Given the description of an element on the screen output the (x, y) to click on. 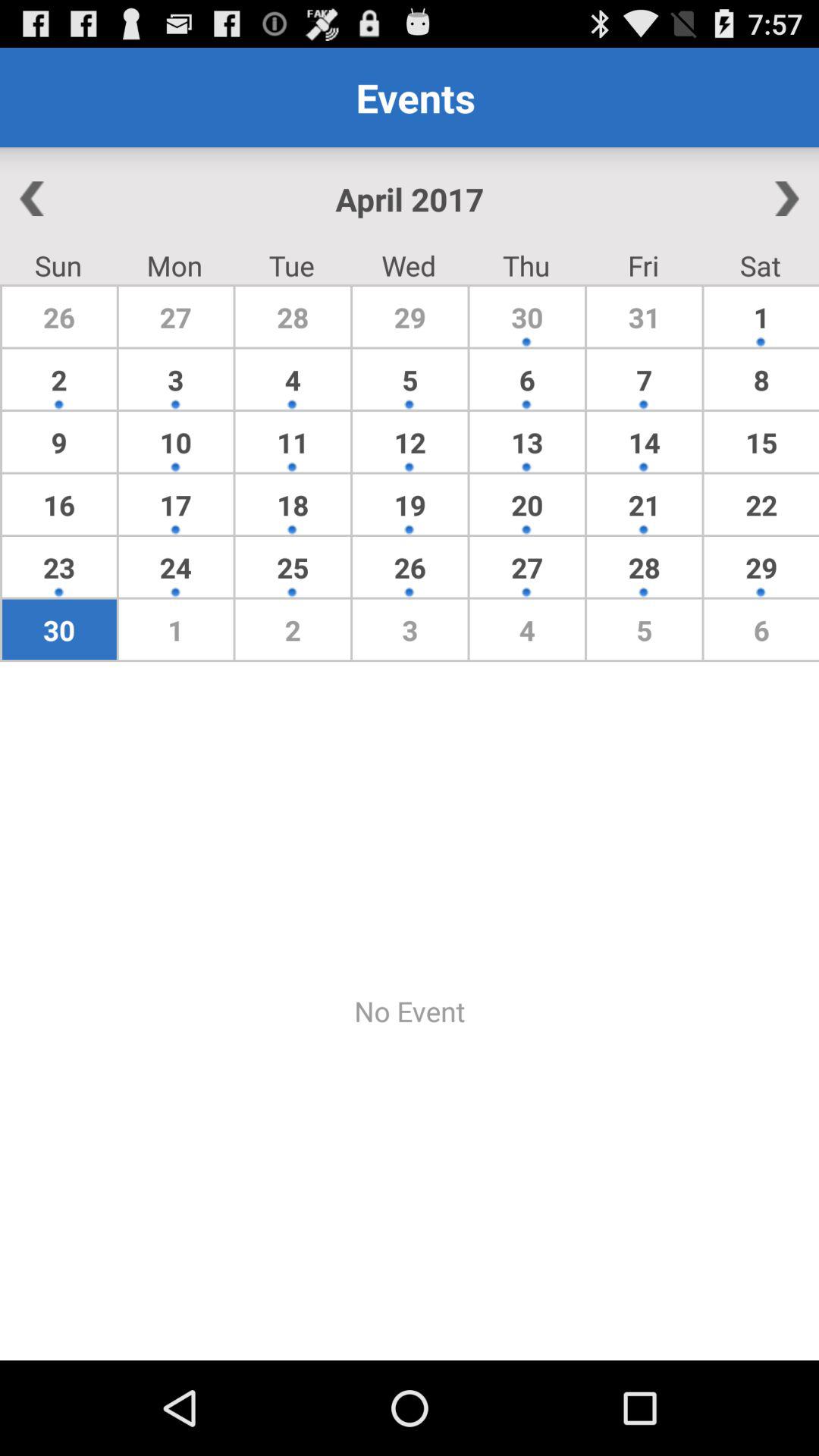
flip until 31 item (643, 316)
